Given the description of an element on the screen output the (x, y) to click on. 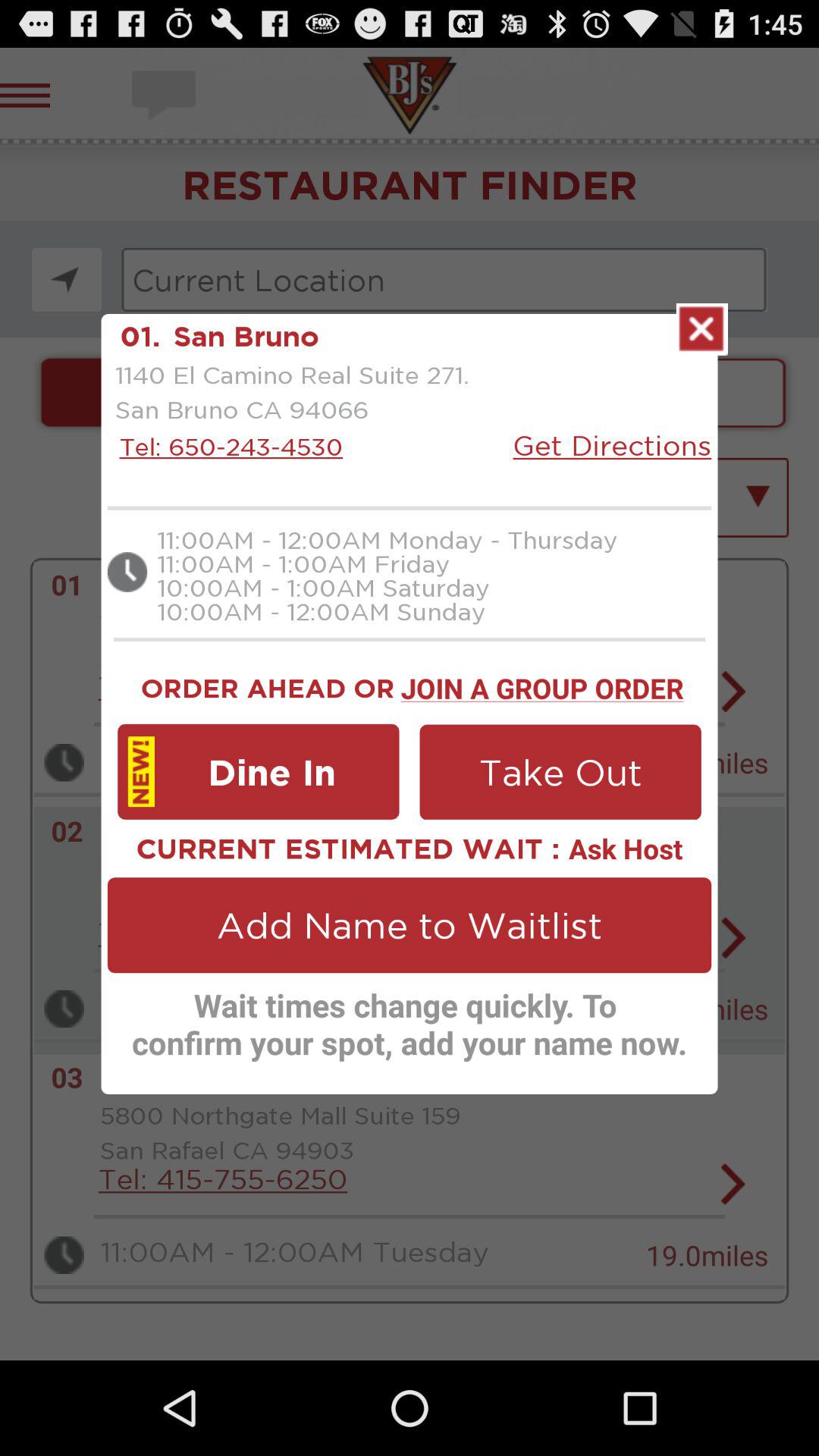
jump until the get directions (612, 444)
